Given the description of an element on the screen output the (x, y) to click on. 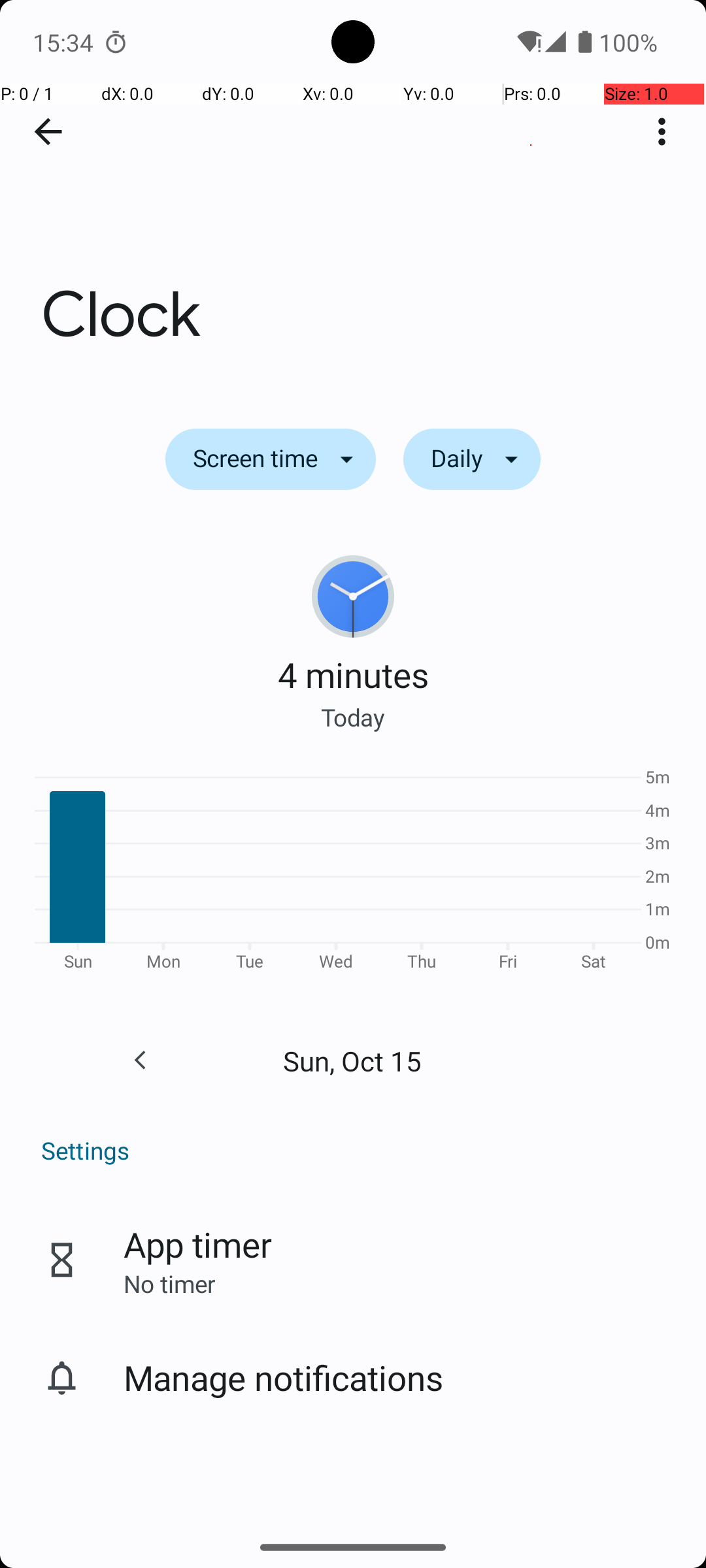
4 minutes Element type: android.widget.TextView (353, 674)
Go to the previous day Element type: android.widget.Button (139, 1060)
Bar Chart. Showing App usage data with 7 data points. Element type: android.view.ViewGroup (353, 873)
App timer Element type: android.widget.TextView (197, 1244)
No timer Element type: android.widget.TextView (169, 1283)
Manage notifications Element type: android.widget.TextView (283, 1377)
